Given the description of an element on the screen output the (x, y) to click on. 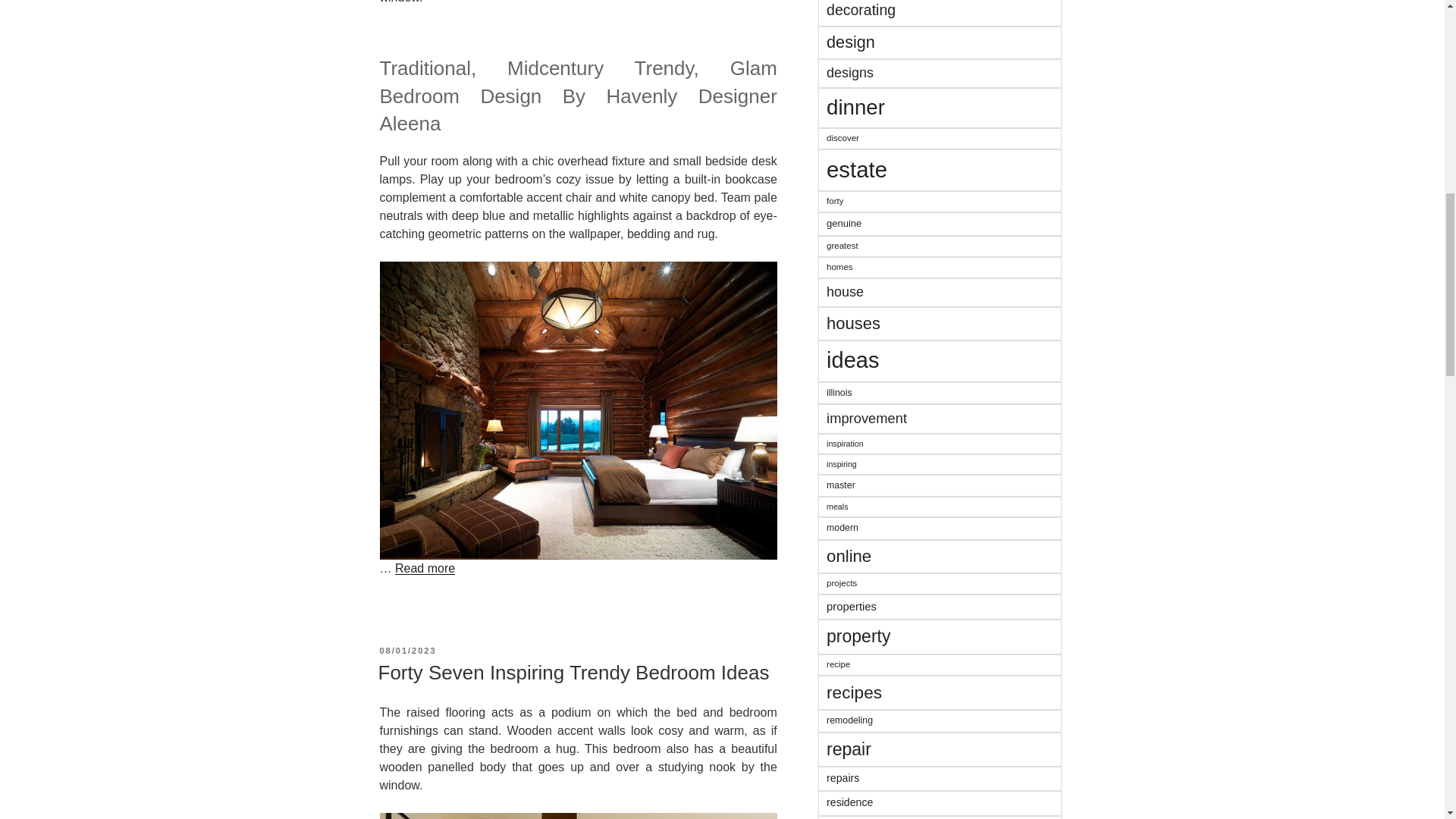
forty (939, 201)
homes (939, 267)
dinner (939, 107)
decorating (939, 12)
greatest (939, 246)
genuine (939, 223)
estate (939, 169)
Read more (424, 567)
designs (939, 72)
Forty Seven Inspiring Trendy Bedroom Ideas (572, 671)
discover (939, 138)
design (939, 42)
